Given the description of an element on the screen output the (x, y) to click on. 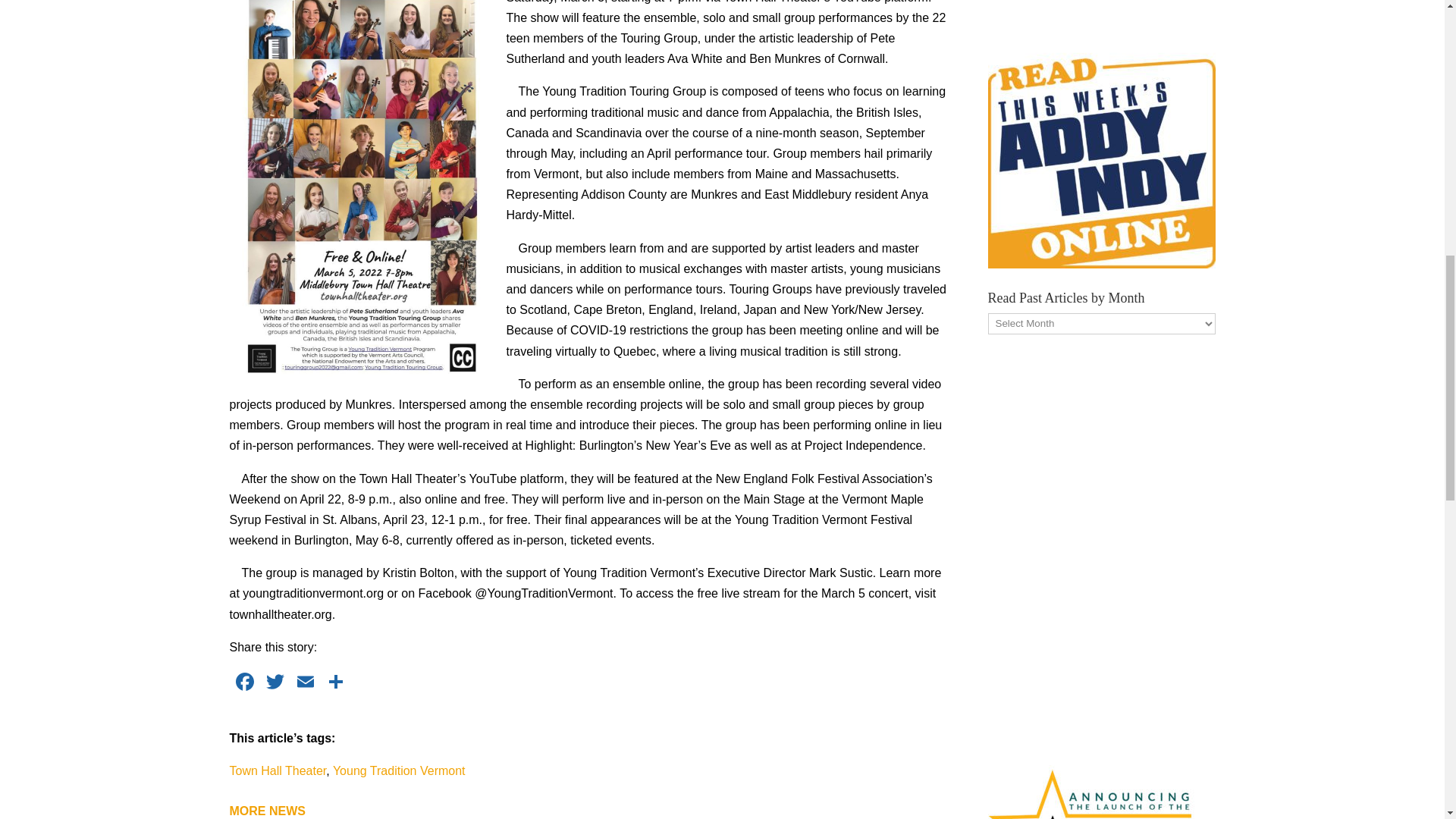
Email (304, 683)
3rd party ad content (1100, 9)
Facebook (243, 683)
Twitter (274, 683)
